Given the description of an element on the screen output the (x, y) to click on. 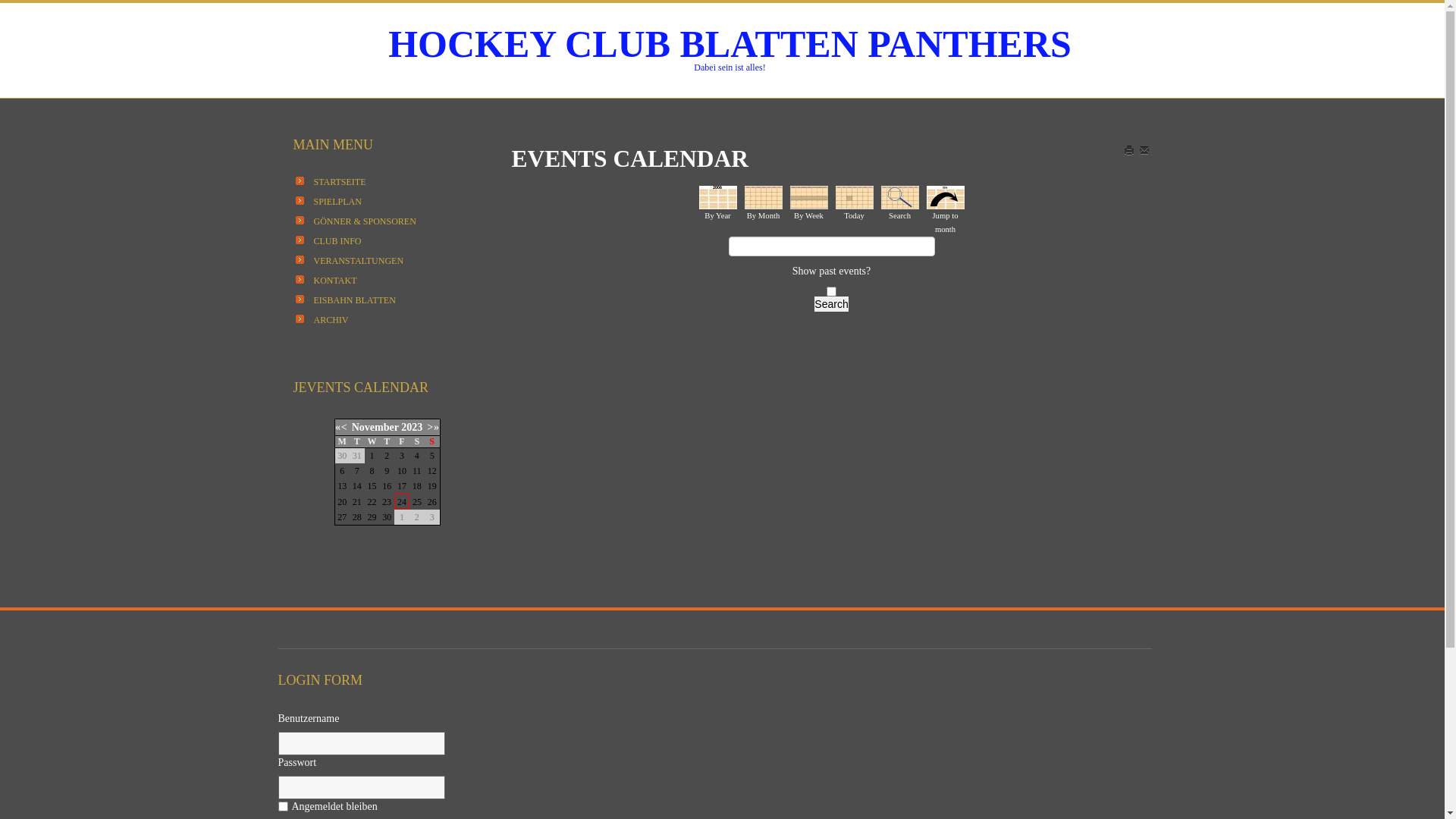
20 Element type: text (341, 500)
23 Element type: text (386, 500)
21 Element type: text (356, 500)
28 Element type: text (356, 516)
17 Element type: text (401, 485)
8 Element type: text (371, 470)
11 Element type: text (416, 470)
SPIELPLAN Element type: text (337, 201)
Today Element type: hover (854, 196)
7 Element type: text (356, 470)
CLUB INFO Element type: text (337, 241)
25 Element type: text (416, 500)
26 Element type: text (431, 500)
KONTAKT Element type: text (335, 280)
By Year Element type: hover (718, 196)
9 Element type: text (386, 470)
ARCHIV Element type: text (330, 319)
14 Element type: text (356, 485)
November Element type: text (374, 427)
By Week Element type: hover (809, 196)
12 Element type: text (431, 470)
19 Element type: text (431, 485)
EMAIL Element type: hover (1145, 149)
29 Element type: text (371, 516)
HOCKEY CLUB BLATTEN PANTHERS Element type: text (729, 43)
18 Element type: text (416, 485)
Print Element type: hover (1129, 149)
2 Element type: text (386, 455)
EISBAHN BLATTEN Element type: text (354, 300)
15 Element type: text (371, 485)
4 Element type: text (416, 455)
6 Element type: text (341, 470)
5 Element type: text (431, 455)
VERANSTALTUNGEN Element type: text (358, 260)
10 Element type: text (401, 470)
1 Element type: text (371, 455)
2023 Element type: text (411, 427)
30 Element type: text (386, 516)
Search Element type: hover (900, 196)
By Month Element type: hover (763, 196)
24 Element type: text (401, 500)
3 Element type: text (401, 455)
16 Element type: text (386, 485)
13 Element type: text (341, 485)
27 Element type: text (341, 516)
Search Element type: text (830, 303)
STARTSEITE Element type: text (339, 181)
Jump to month Element type: hover (945, 196)
22 Element type: text (371, 500)
